Given the description of an element on the screen output the (x, y) to click on. 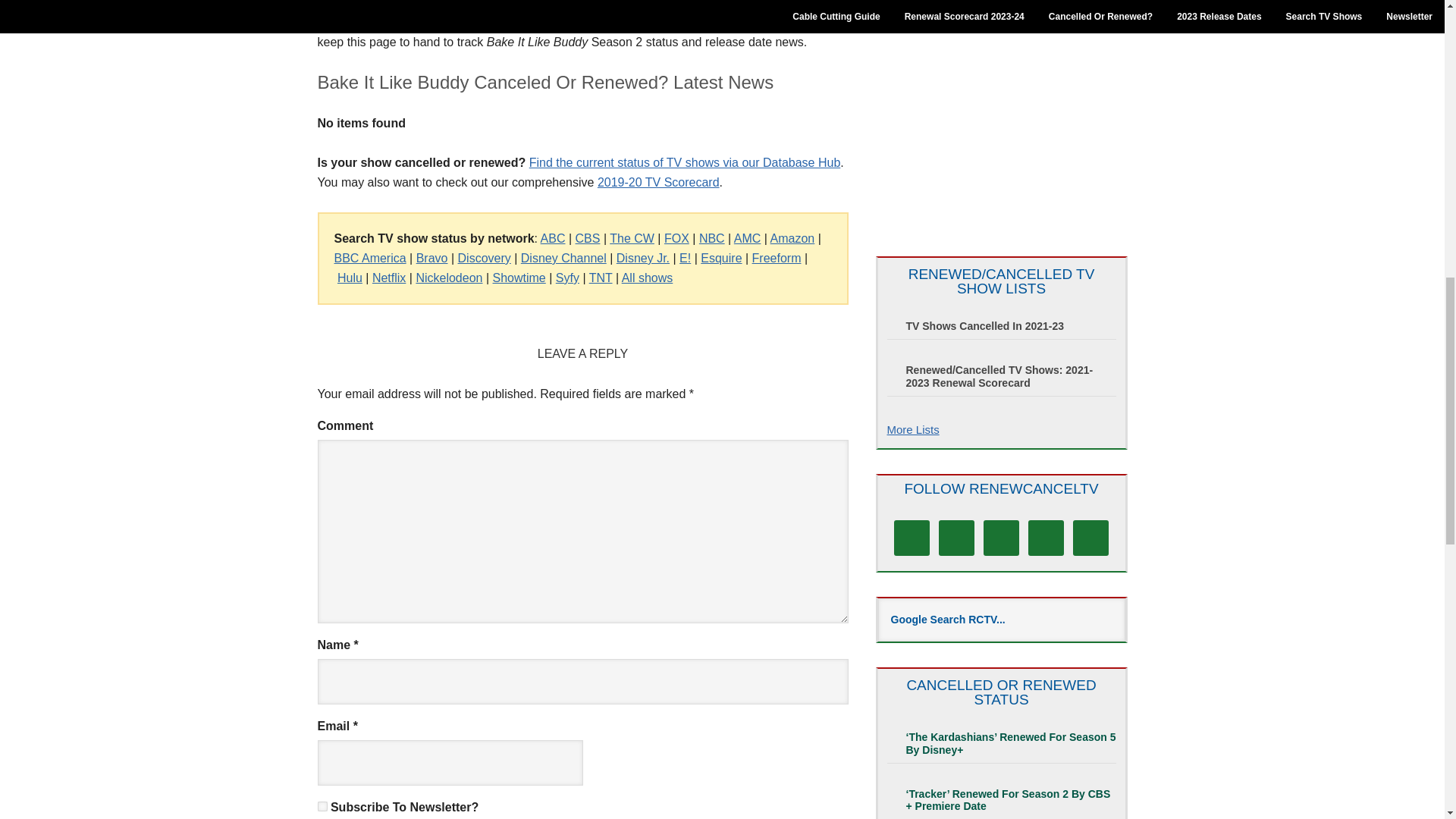
Google Search RCTV... (1001, 619)
Google Search RCTV... (1001, 619)
1 (321, 806)
